Given the description of an element on the screen output the (x, y) to click on. 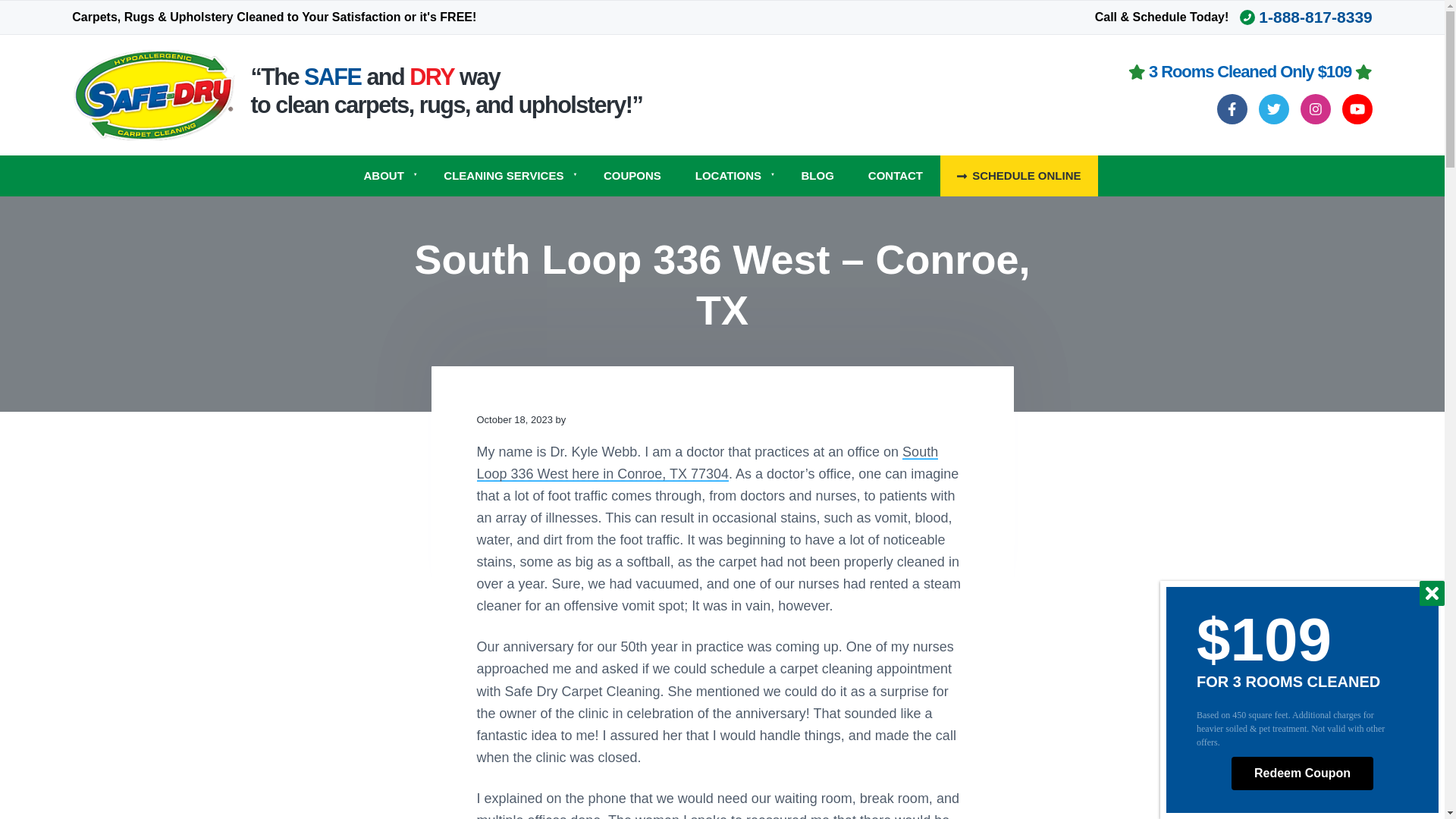
LOCATIONS (731, 175)
1-888-817-8339 (1305, 17)
COUPONS (632, 175)
CLEANING SERVICES (506, 175)
ABOUT (386, 175)
